Given the description of an element on the screen output the (x, y) to click on. 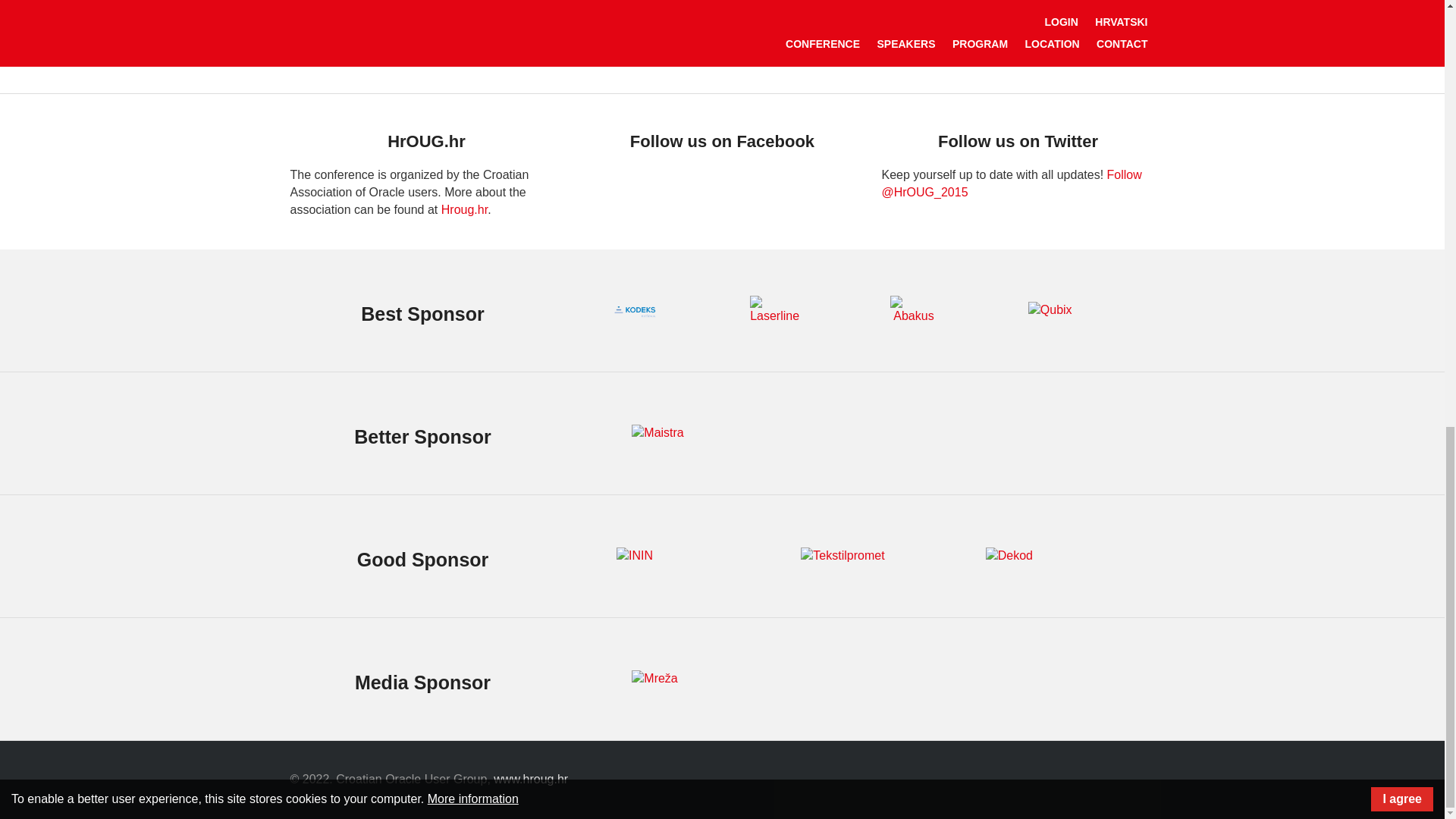
Hroug.hr (464, 209)
Laserline (774, 310)
Dekod (1008, 556)
Return to program (722, 30)
Qubix (1049, 310)
Maistra (656, 433)
ININ (633, 556)
www.hroug.hr (530, 779)
Tekstilpromet (841, 556)
Abakus (913, 310)
